Given the description of an element on the screen output the (x, y) to click on. 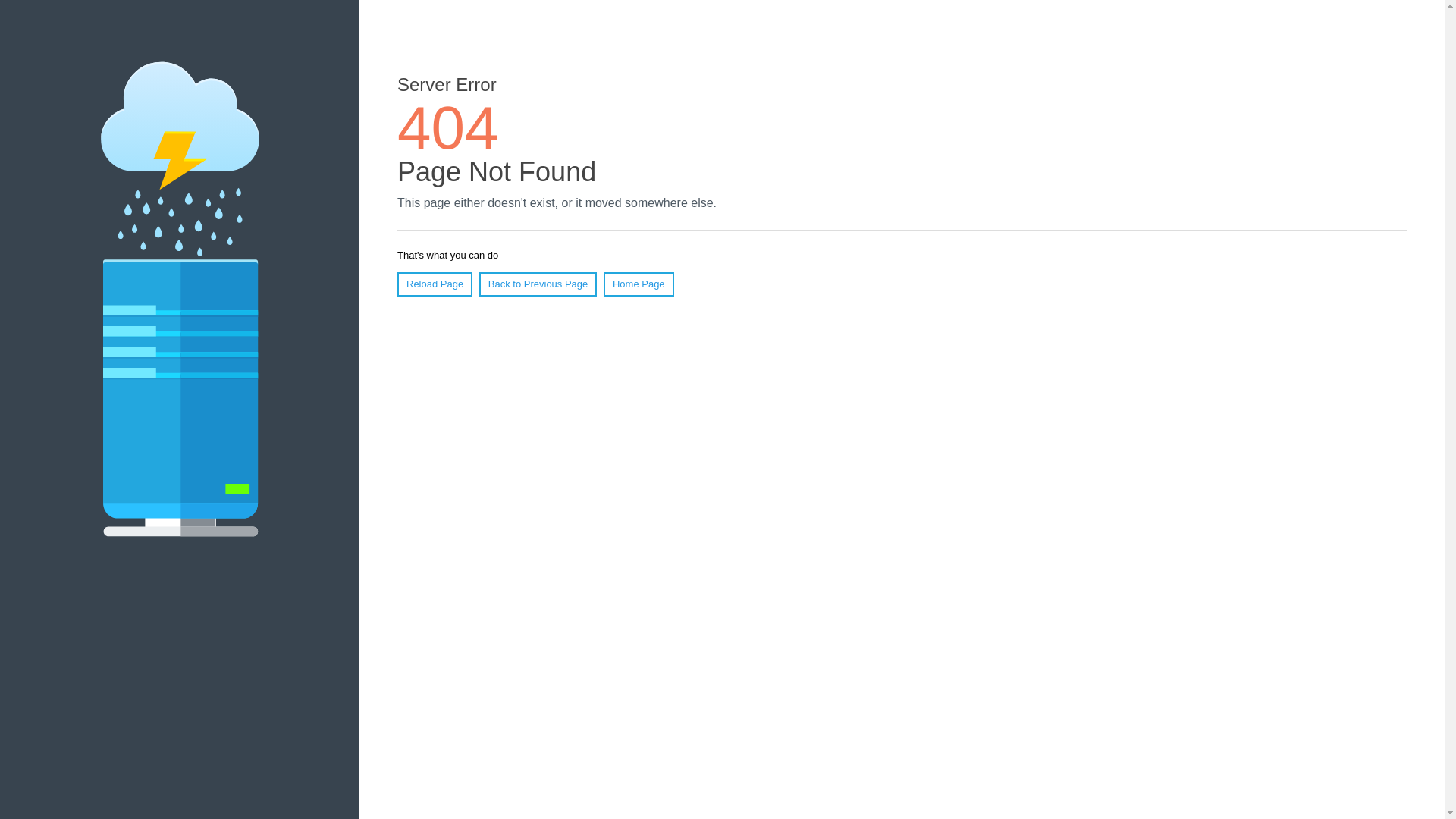
Reload Page Element type: text (434, 284)
Back to Previous Page Element type: text (538, 284)
Home Page Element type: text (638, 284)
